Given the description of an element on the screen output the (x, y) to click on. 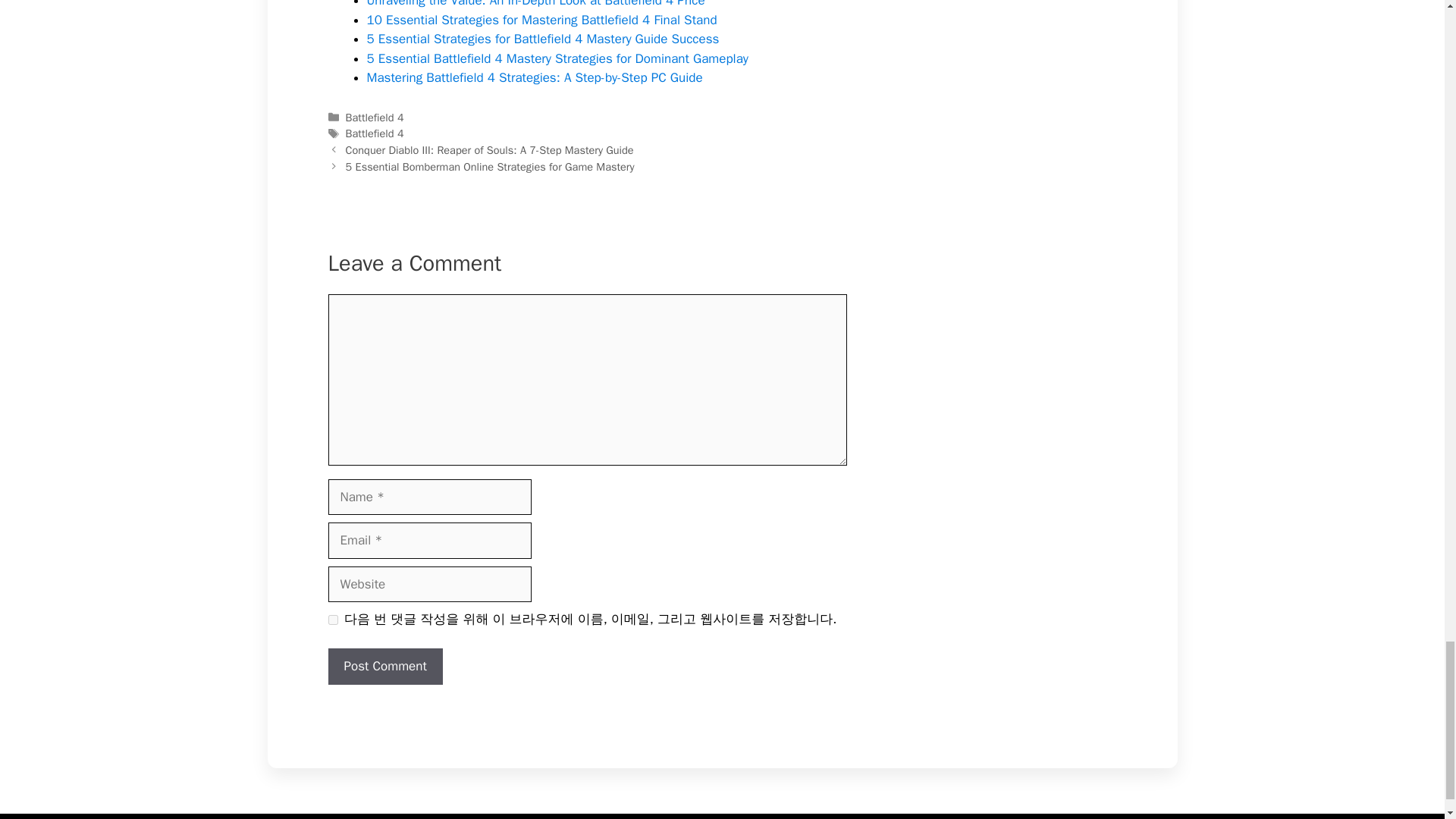
Post Comment (384, 666)
yes (332, 619)
Battlefield 4 (375, 133)
Post Comment (384, 666)
5 Essential Bomberman Online Strategies for Game Mastery (490, 166)
Battlefield 4 (375, 117)
Mastering Battlefield 4 Strategies: A Step-by-Step PC Guide (534, 77)
Conquer Diablo III: Reaper of Souls: A 7-Step Mastery Guide (489, 150)
